Given the description of an element on the screen output the (x, y) to click on. 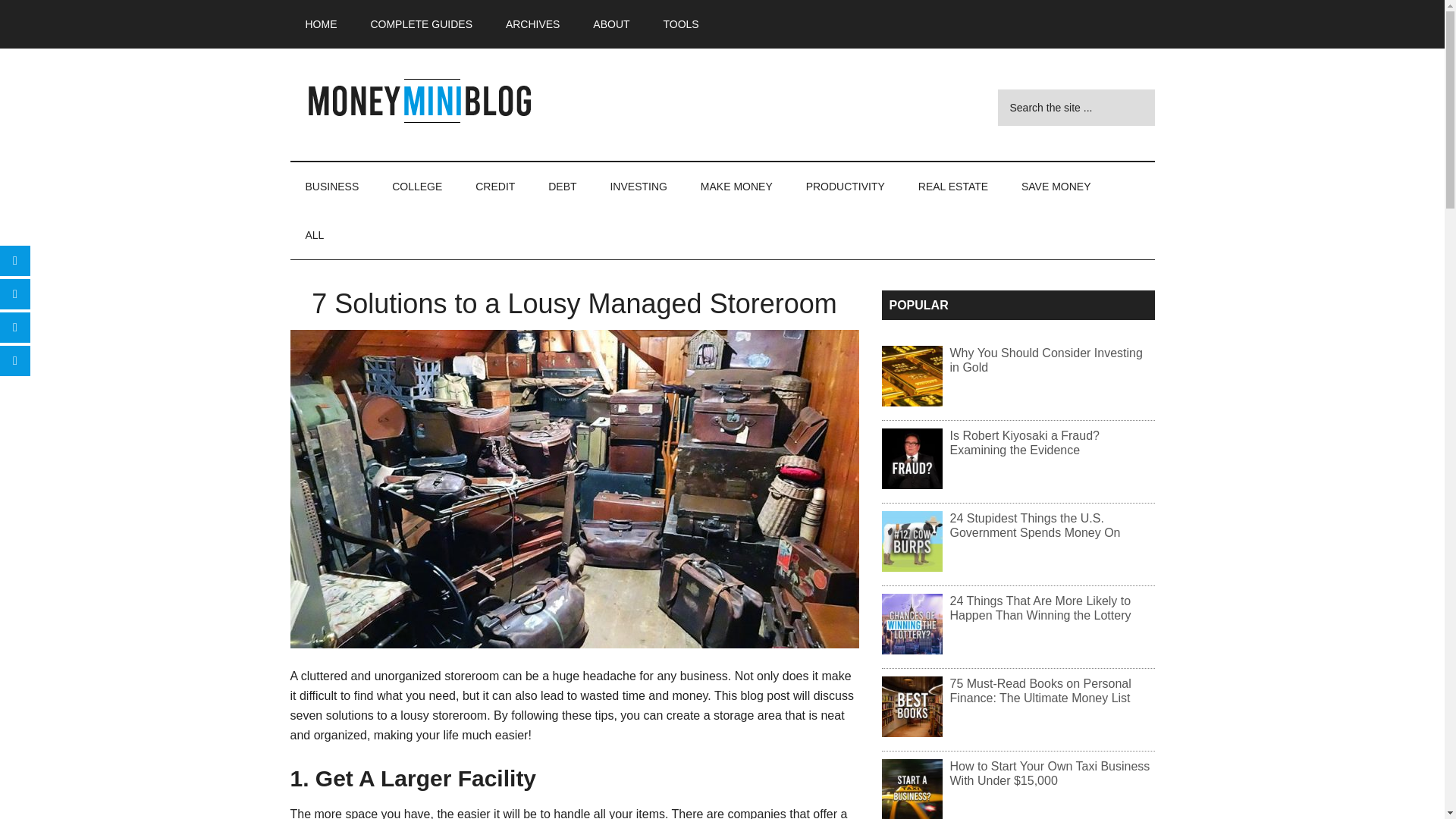
MAKE MONEY (736, 186)
DEBT (561, 186)
ALL (314, 234)
BUSINESS (331, 186)
TOOLS (680, 24)
PRODUCTIVITY (844, 186)
ARCHIVES (532, 24)
